Given the description of an element on the screen output the (x, y) to click on. 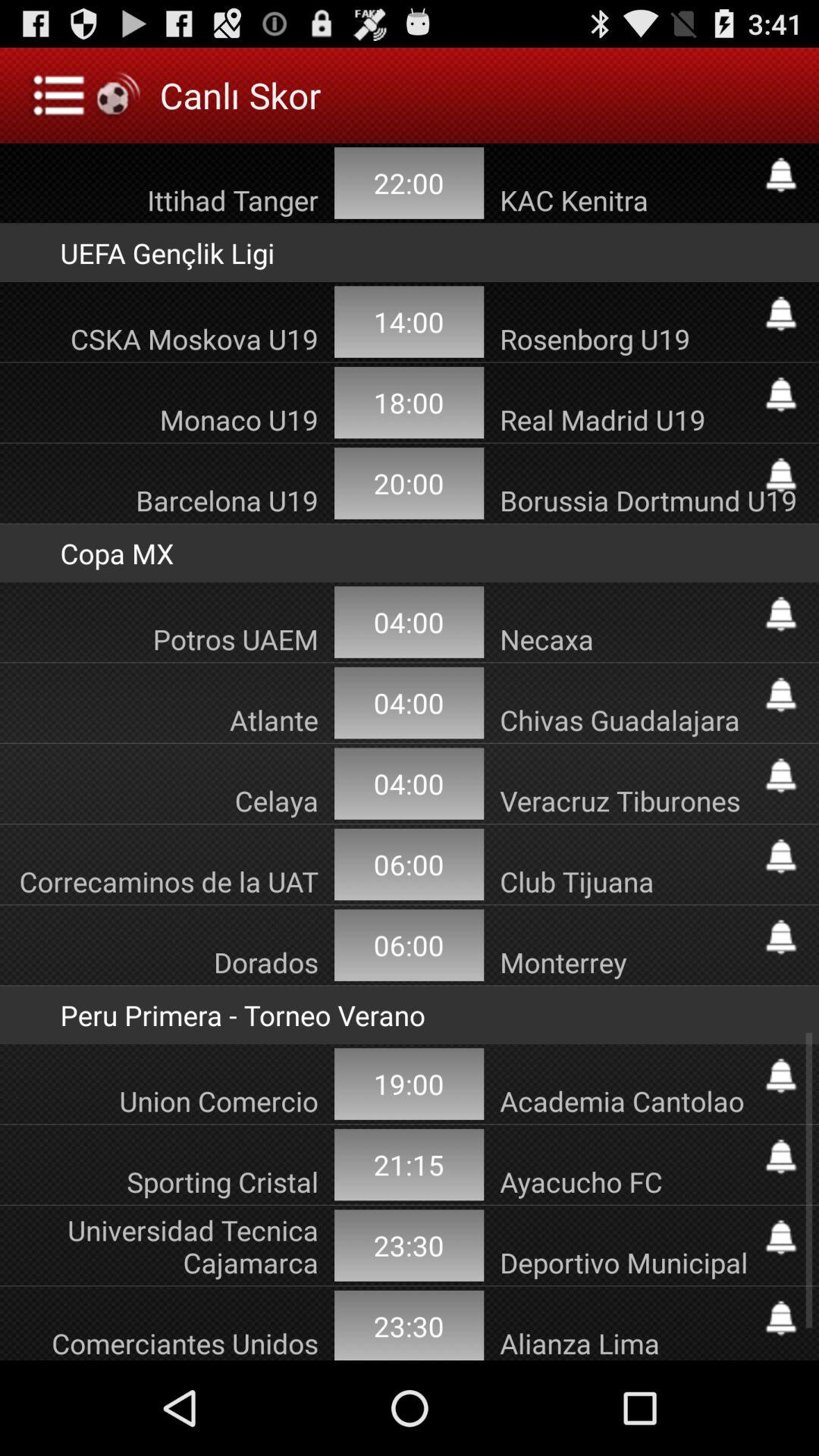
notification bell (780, 937)
